Given the description of an element on the screen output the (x, y) to click on. 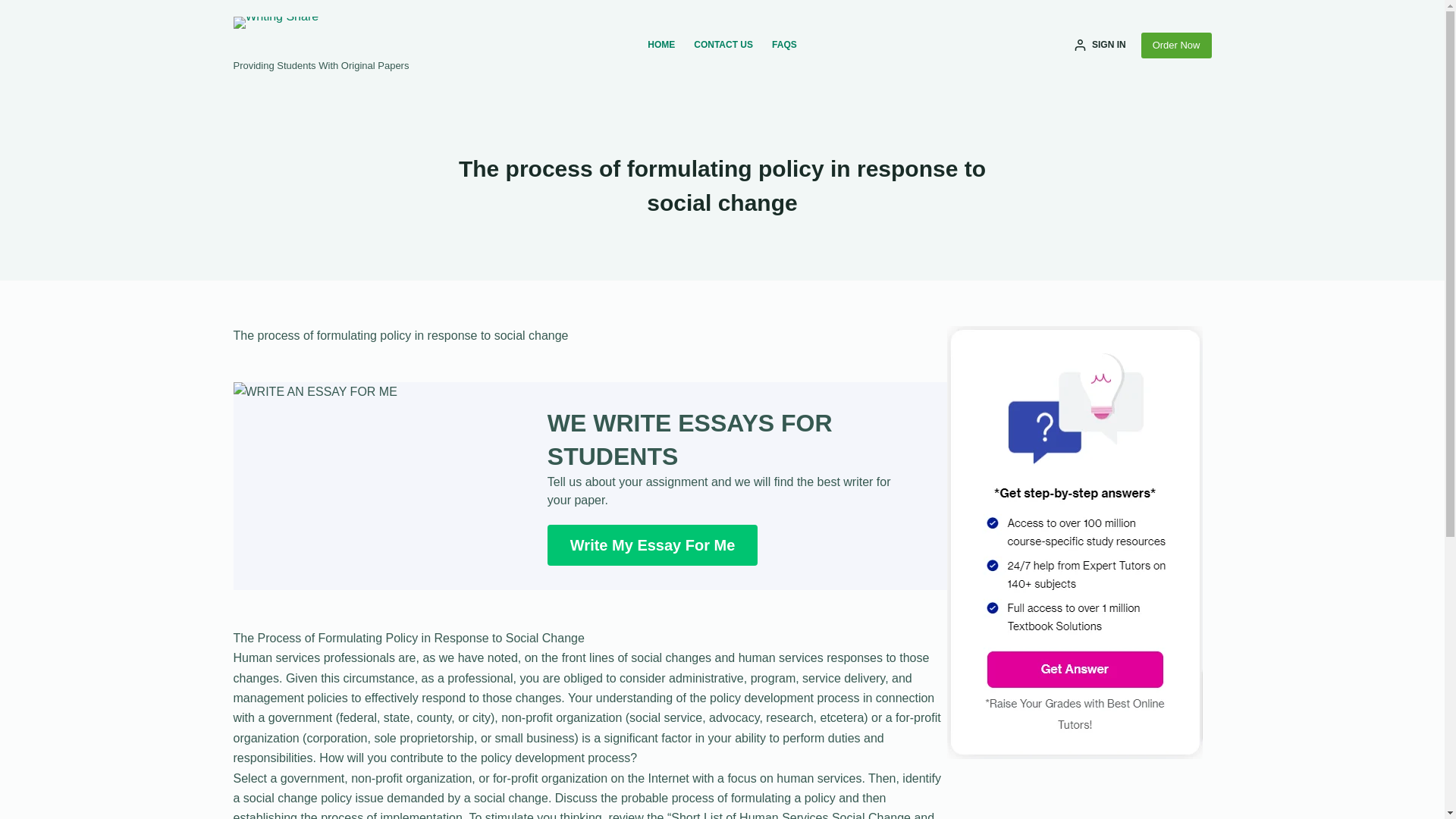
Write My Essay For Me (652, 544)
Order Now (1176, 45)
SIGN IN (1099, 45)
Skip to content (15, 7)
